Given the description of an element on the screen output the (x, y) to click on. 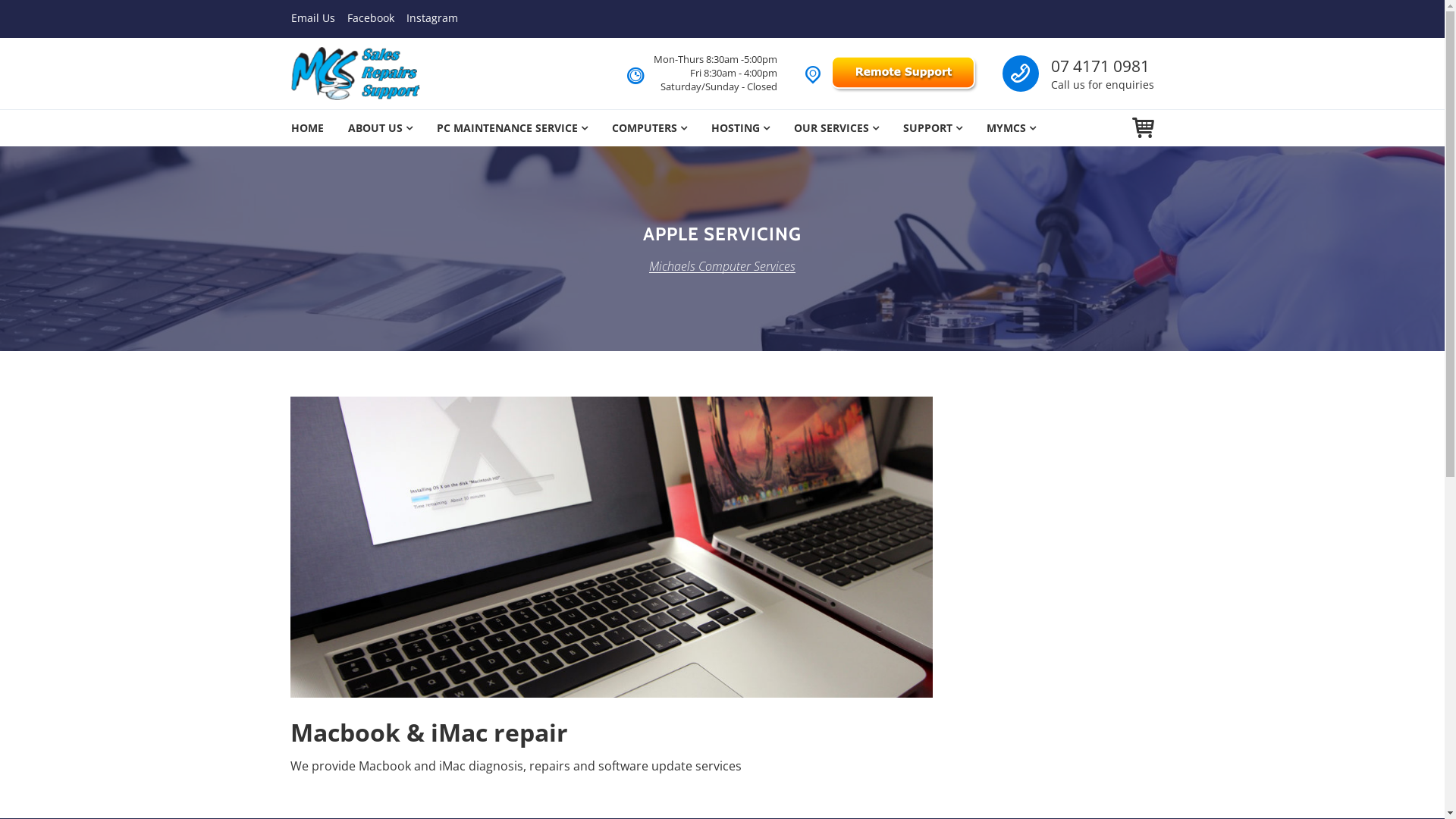
ABOUT US Element type: text (379, 127)
MYMCS Element type: text (1010, 127)
Email Us Element type: text (313, 17)
Michaels Computer Services Element type: text (722, 266)
PC MAINTENANCE SERVICE Element type: text (511, 127)
Facebook Element type: text (370, 17)
COMPUTERS Element type: text (648, 127)
HOME Element type: text (307, 127)
SUPPORT Element type: text (931, 127)
Instagram Element type: text (432, 17)
07 4171 0981 Element type: text (1100, 65)
HOSTING Element type: text (740, 127)
7614845826_7bb1be2372_b[1] Element type: hover (610, 546)
View your shopping cart Element type: hover (1142, 127)
OUR SERVICES Element type: text (835, 127)
